Given the description of an element on the screen output the (x, y) to click on. 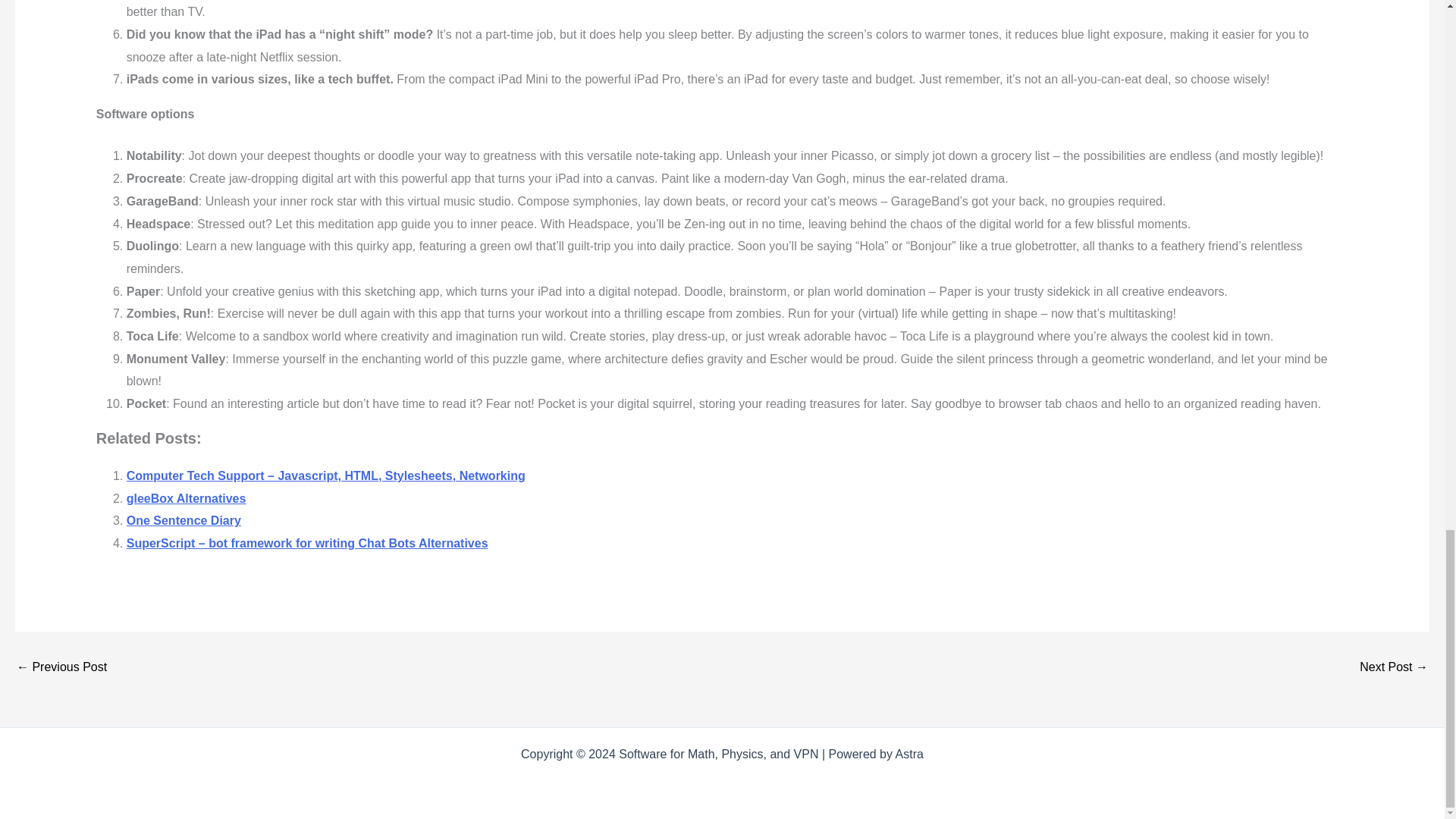
gleeBox Alternatives (186, 498)
One Sentence Diary (183, 520)
gleeBox Alternatives (61, 666)
One Sentence Diary (183, 520)
One Sentence Diary (1393, 666)
gleeBox Alternatives (186, 498)
